Given the description of an element on the screen output the (x, y) to click on. 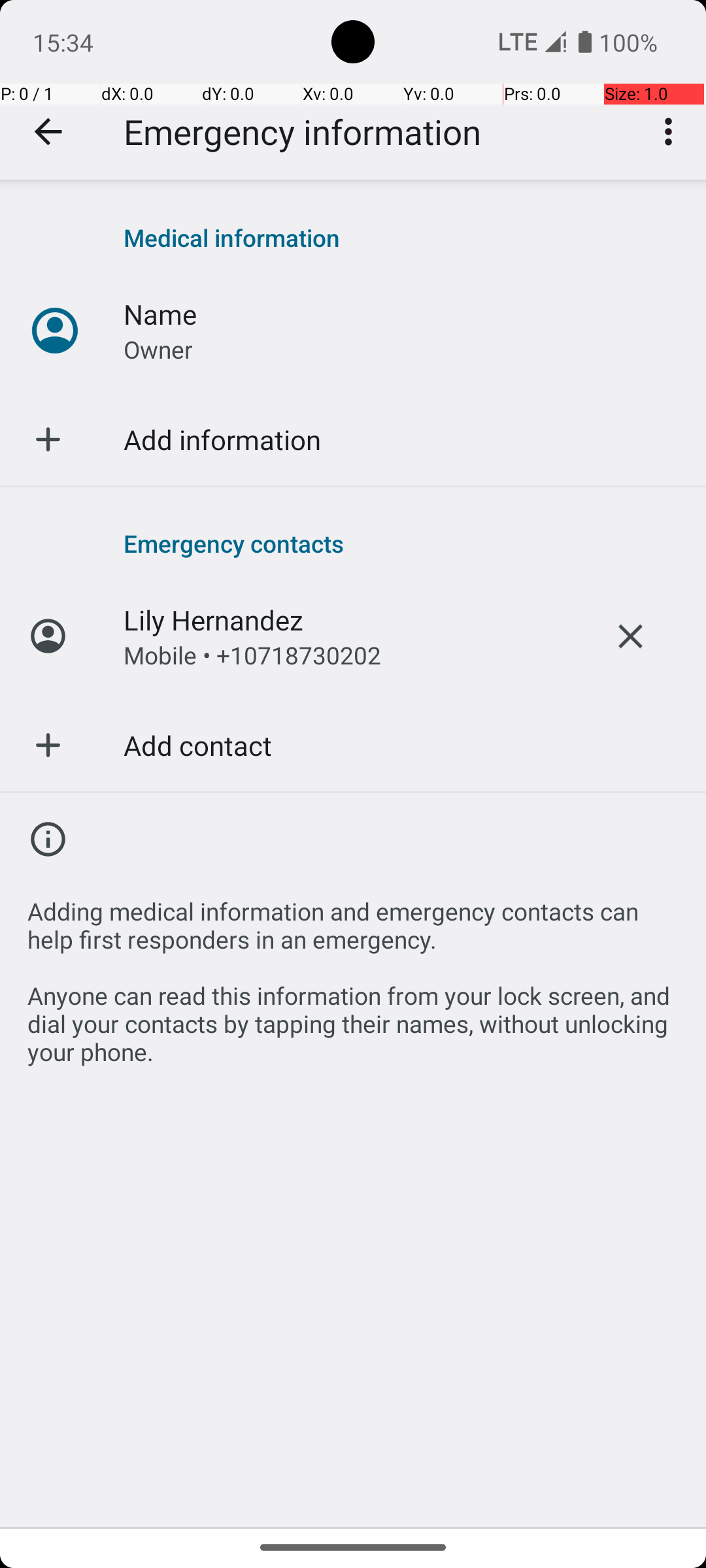
Emergency information Element type: android.widget.TextView (302, 131)
Medical information Element type: android.widget.TextView (400, 237)
Owner Element type: android.widget.TextView (157, 348)
Add information Element type: android.widget.TextView (221, 438)
Emergency contacts Element type: android.widget.TextView (400, 542)
Lily Hernandez Element type: android.widget.TextView (213, 619)
Mobile • +10718730202 Element type: android.widget.TextView (252, 654)
Remove contact Element type: android.widget.ImageView (630, 636)
Add contact Element type: android.widget.TextView (197, 744)
Adding medical information and emergency contacts can help first responders in an emergency.

Anyone can read this information from your lock screen, and dial your contacts by tapping their names, without unlocking your phone. Element type: android.widget.TextView (352, 973)
